Given the description of an element on the screen output the (x, y) to click on. 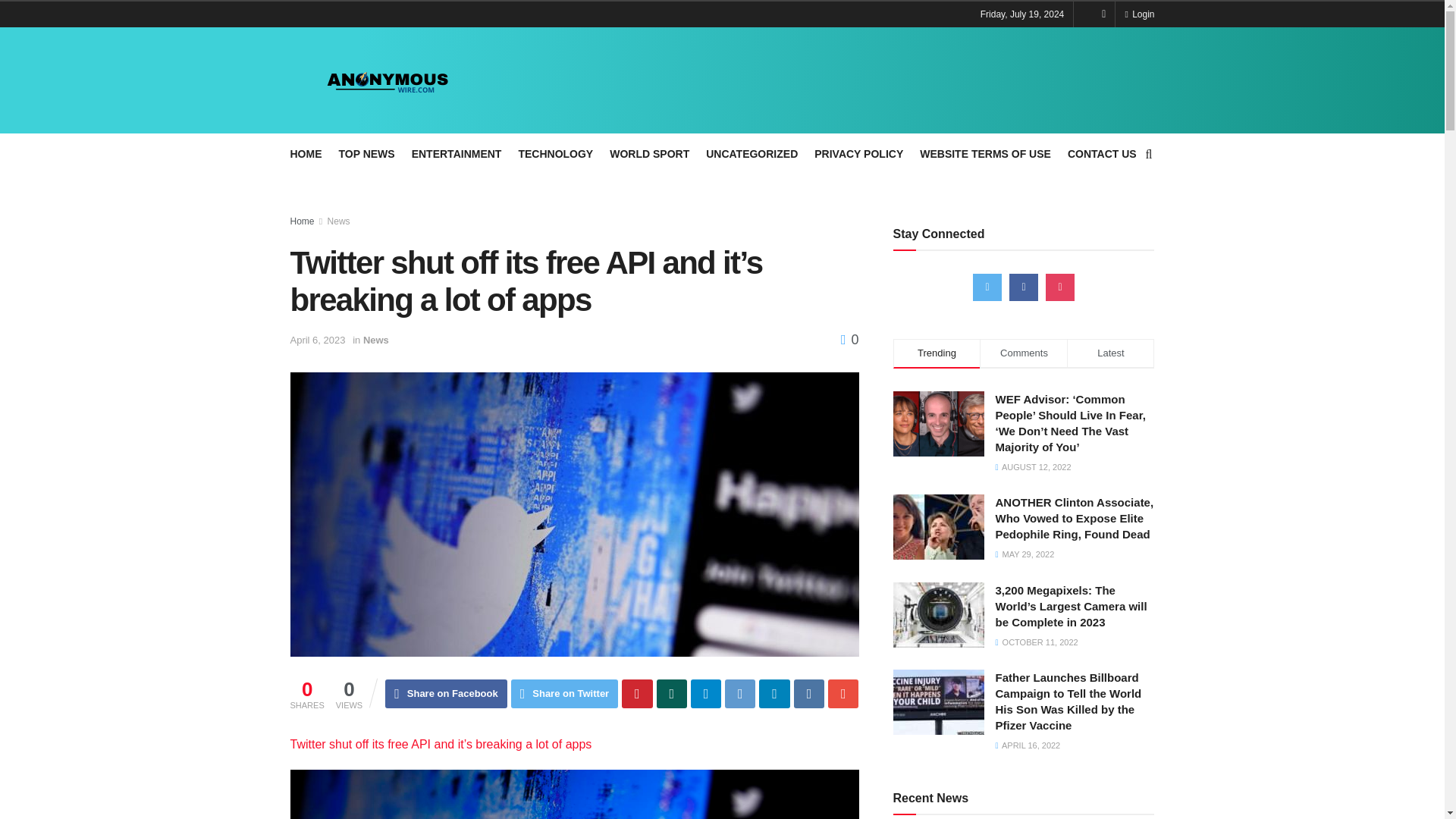
News (338, 221)
Share on Facebook (445, 693)
0 (850, 339)
WEBSITE TERMS OF USE (985, 153)
HOME (305, 153)
PRIVACY POLICY (857, 153)
Share on Twitter (564, 693)
Login (1139, 14)
TOP NEWS (365, 153)
WORLD SPORT (649, 153)
Home (301, 221)
